Given the description of an element on the screen output the (x, y) to click on. 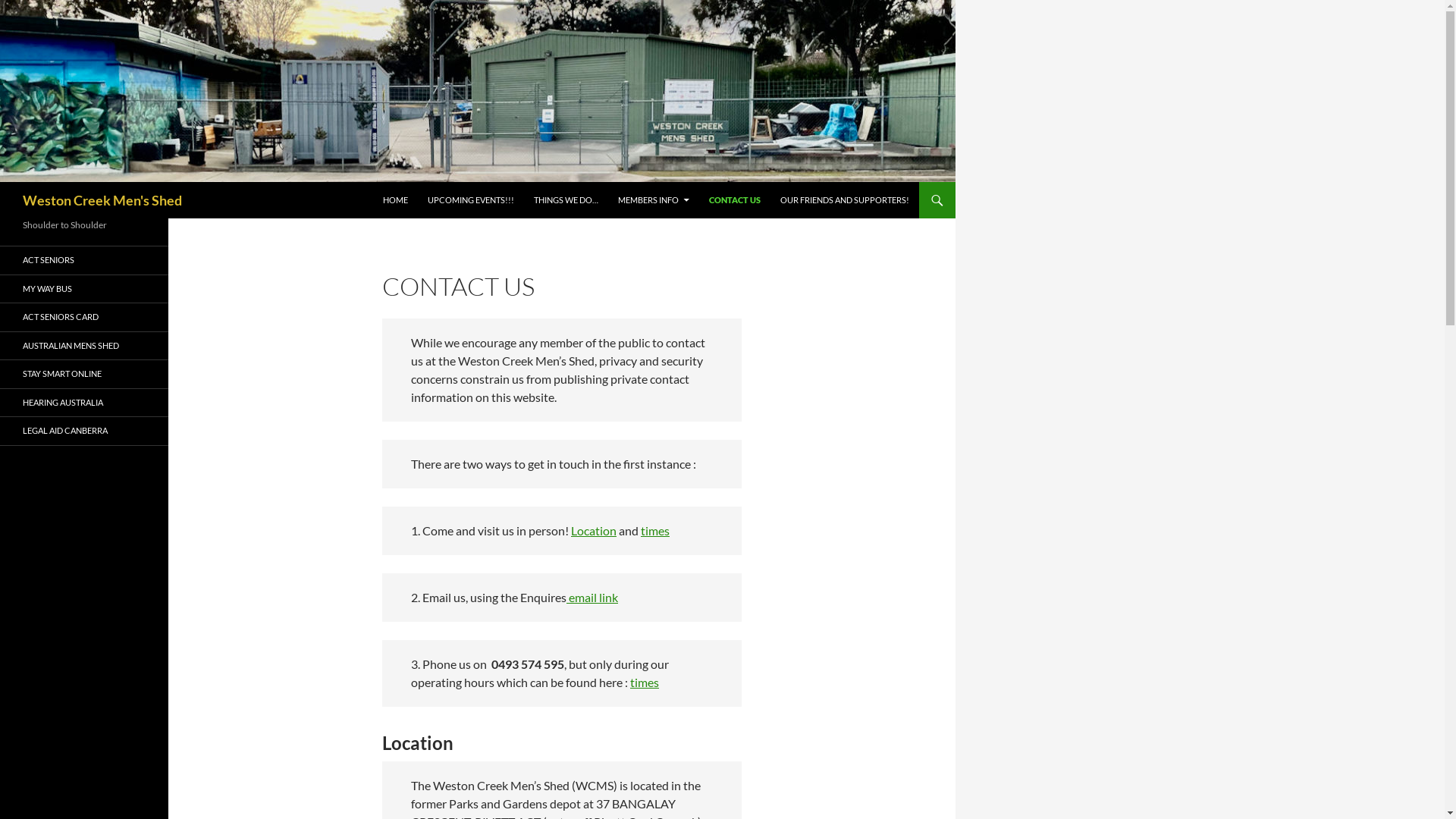
times Element type: text (654, 530)
STAY SMART ONLINE Element type: text (84, 374)
HEARING AUSTRALIA Element type: text (84, 402)
SKIP TO CONTENT Element type: text (382, 181)
ACT SENIORS Element type: text (84, 260)
UPCOMING EVENTS!!! Element type: text (470, 200)
times Element type: text (644, 681)
MEMBERS INFO Element type: text (653, 200)
AUSTRALIAN MENS SHED Element type: text (84, 346)
Search Element type: text (3, 181)
email link Element type: text (593, 596)
LEGAL AID CANBERRA Element type: text (84, 431)
Weston Creek Men's Shed Element type: text (102, 200)
Location Element type: text (593, 530)
MY WAY BUS Element type: text (84, 288)
CONTACT US Element type: text (734, 200)
OUR FRIENDS AND SUPPORTERS! Element type: text (844, 200)
HOME Element type: text (395, 200)
ACT SENIORS CARD Element type: text (84, 317)
